Given the description of an element on the screen output the (x, y) to click on. 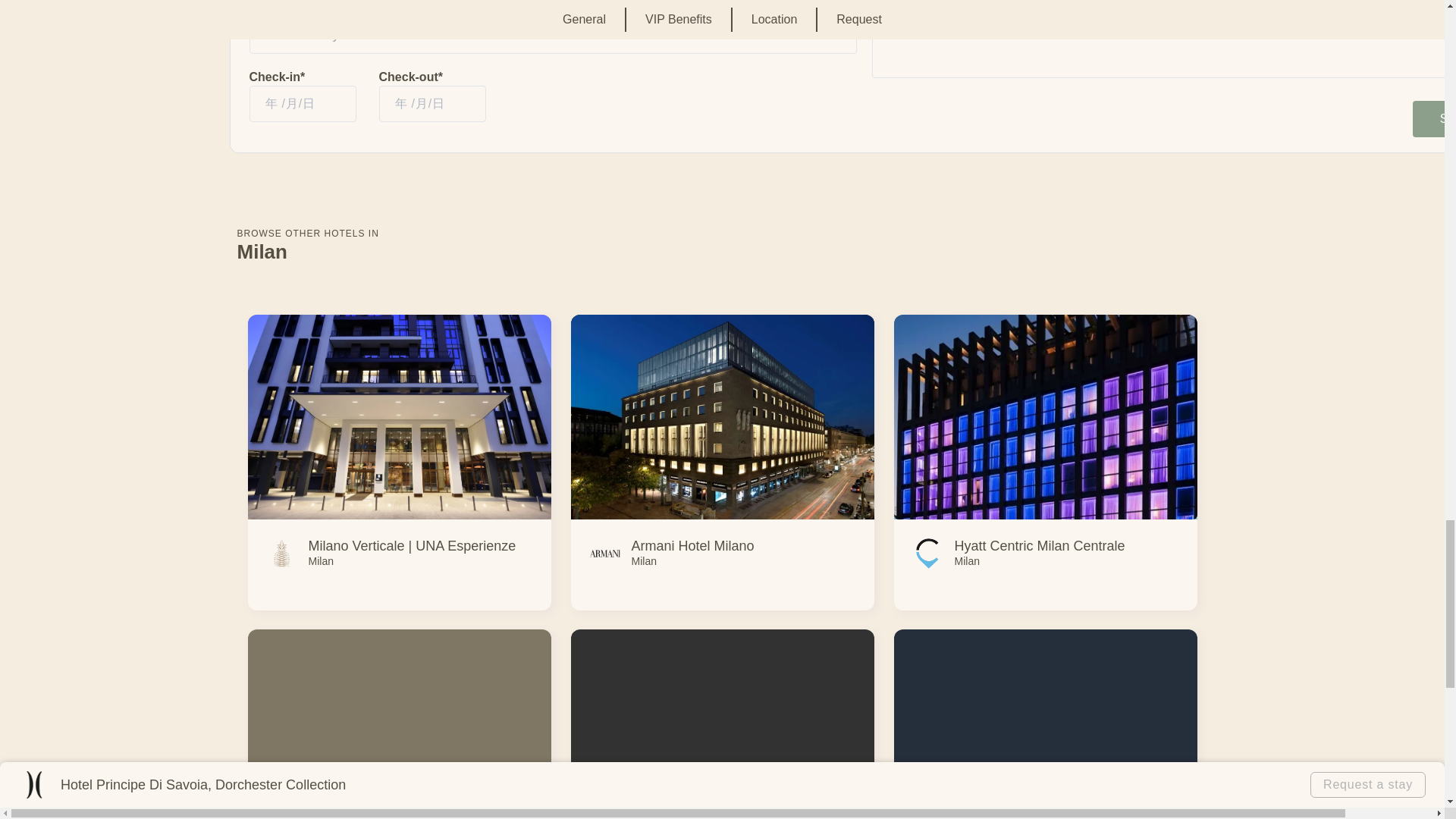
Submit (1434, 118)
